Given the description of an element on the screen output the (x, y) to click on. 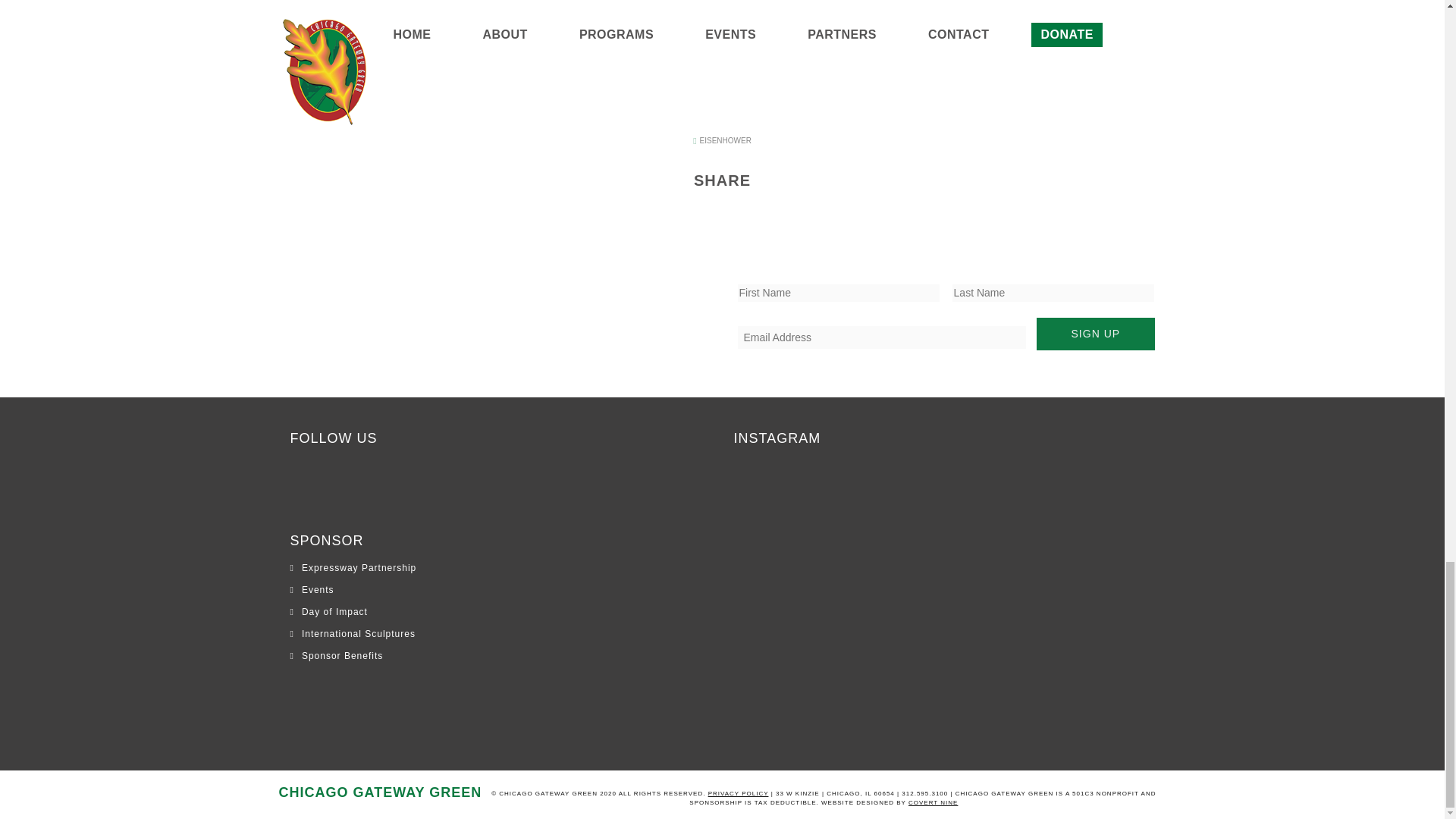
SIGN UP (1095, 333)
EISENHOWER (722, 140)
LEARN MORE ABOUT THE EXPRESSWAY PARTNERSHIP (722, 33)
Web design company in Chicago (889, 802)
